Given the description of an element on the screen output the (x, y) to click on. 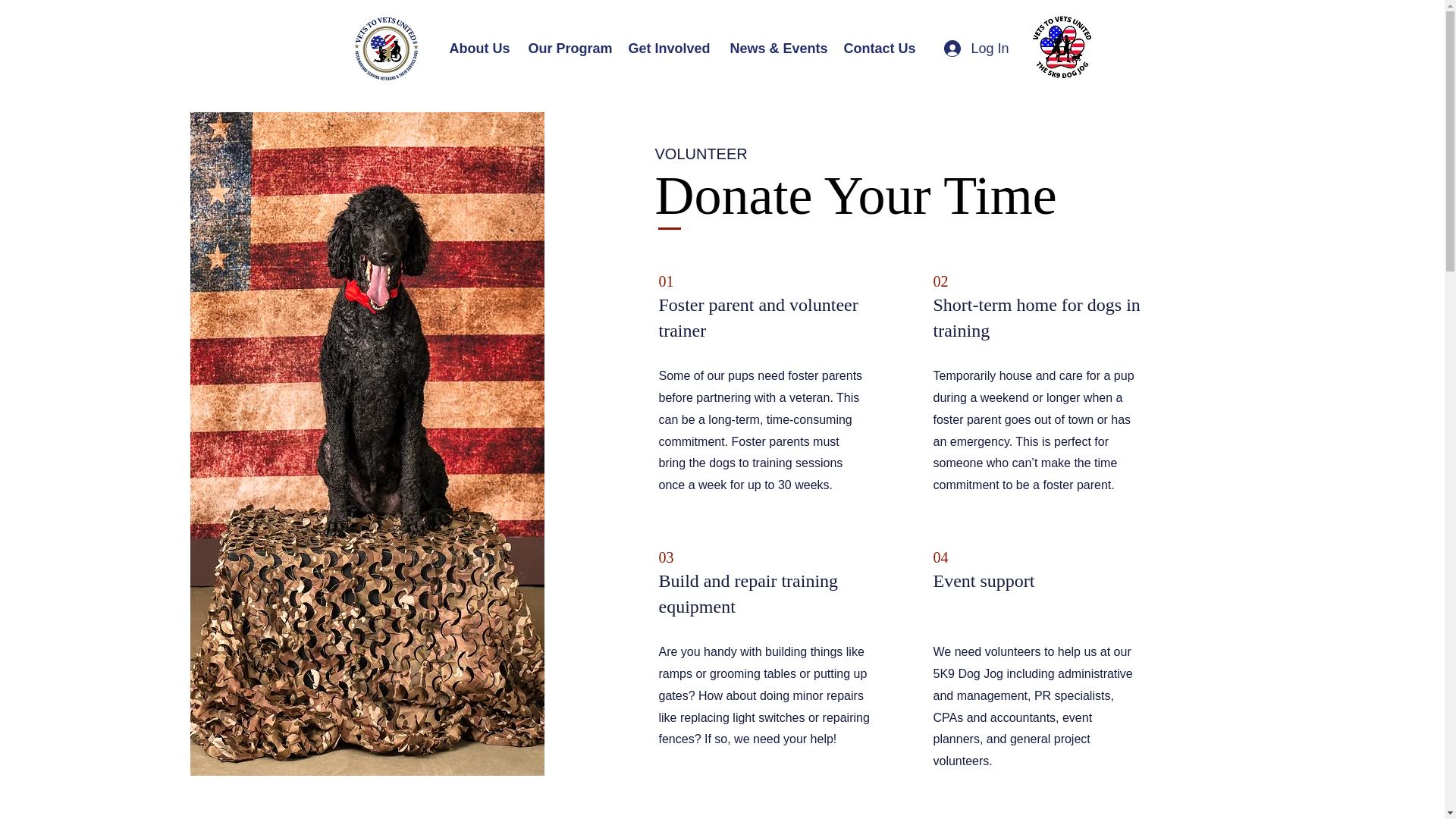
Contact Us (876, 48)
Log In (971, 48)
Vets To Vets United (385, 48)
